Given the description of an element on the screen output the (x, y) to click on. 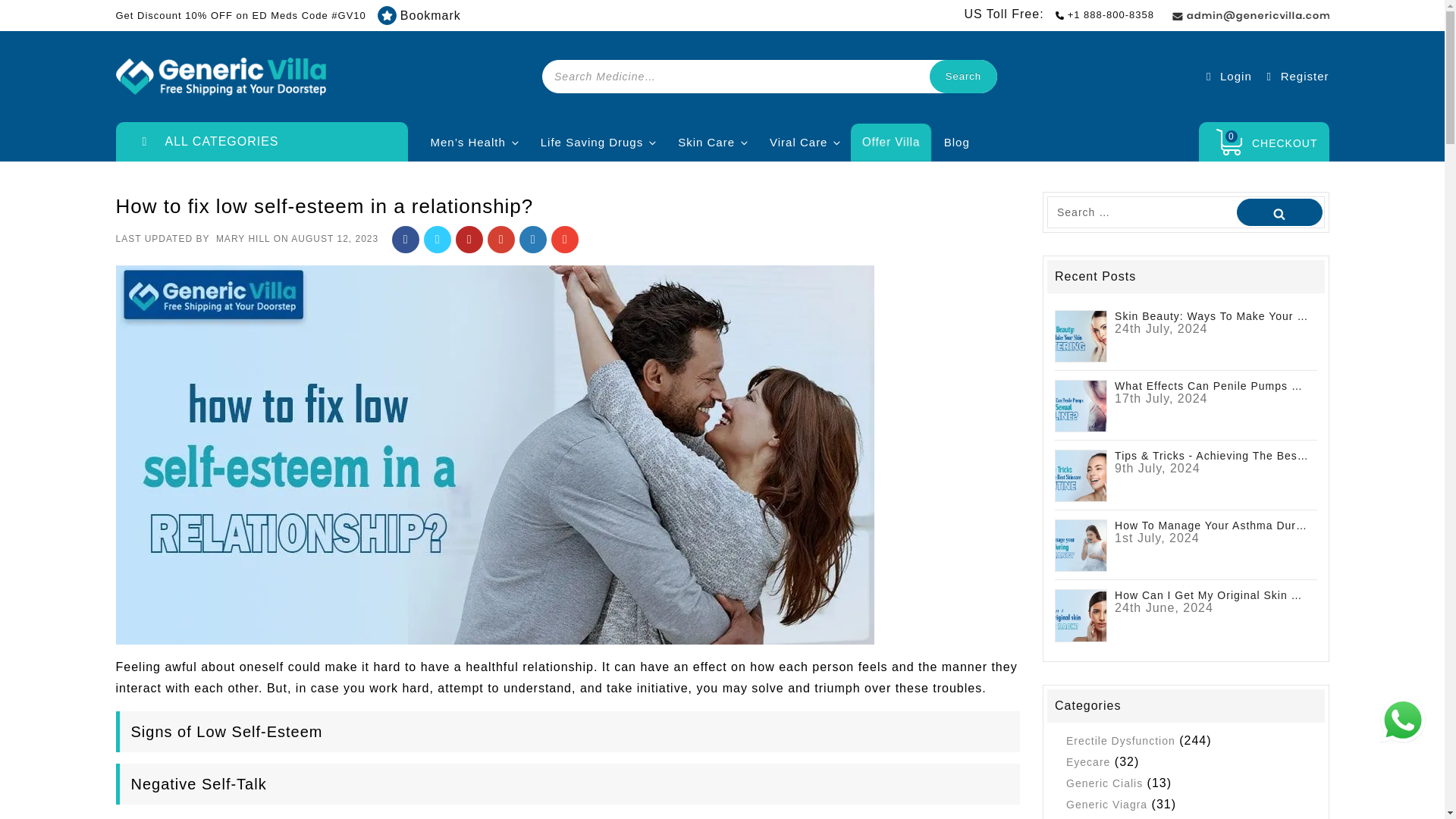
Search (963, 76)
Login (1227, 75)
How to manage your asthma during pregnancy (1080, 544)
What Effects Can Penile Pumps Have on Sexual Decline? (1211, 385)
ALL CATEGORIES (261, 141)
Login (1227, 75)
What Effects Can Penile Pumps Have on Sexual Decline? 4 (1080, 406)
Register (1294, 75)
Skin Beauty: Ways to Make Your Skin Glittering 3 (1080, 336)
What Effects Can Penile Pumps Have on Sexual Decline? (1080, 405)
Skin Beauty: Ways to Make Your Skin Glittering (1080, 335)
Skin Beauty: Ways to Make Your Skin Glittering (1211, 315)
